Given the description of an element on the screen output the (x, y) to click on. 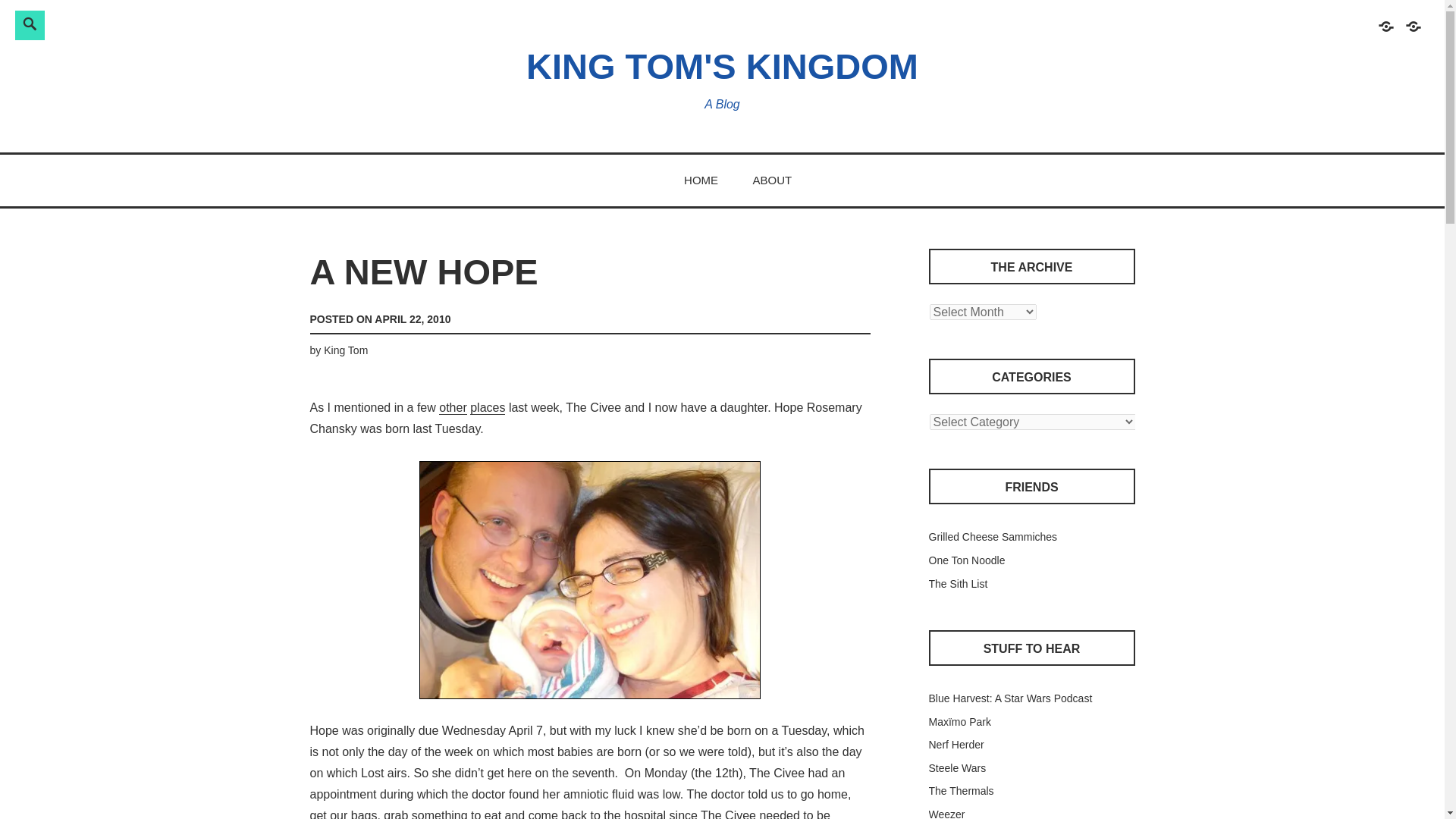
Search (242, 22)
One Ton Noodle (966, 560)
Grilled Cheese Sammiches (992, 536)
King Tom, Hope and The Civee (589, 580)
APRIL 22, 2010 (411, 318)
Nerf Herder (956, 744)
other (452, 407)
places (487, 407)
Search (242, 22)
King Tom (345, 349)
The Sith List, Fool! (957, 583)
Steele Wars (956, 767)
About (1411, 33)
Search (242, 22)
ABOUT (772, 179)
